Given the description of an element on the screen output the (x, y) to click on. 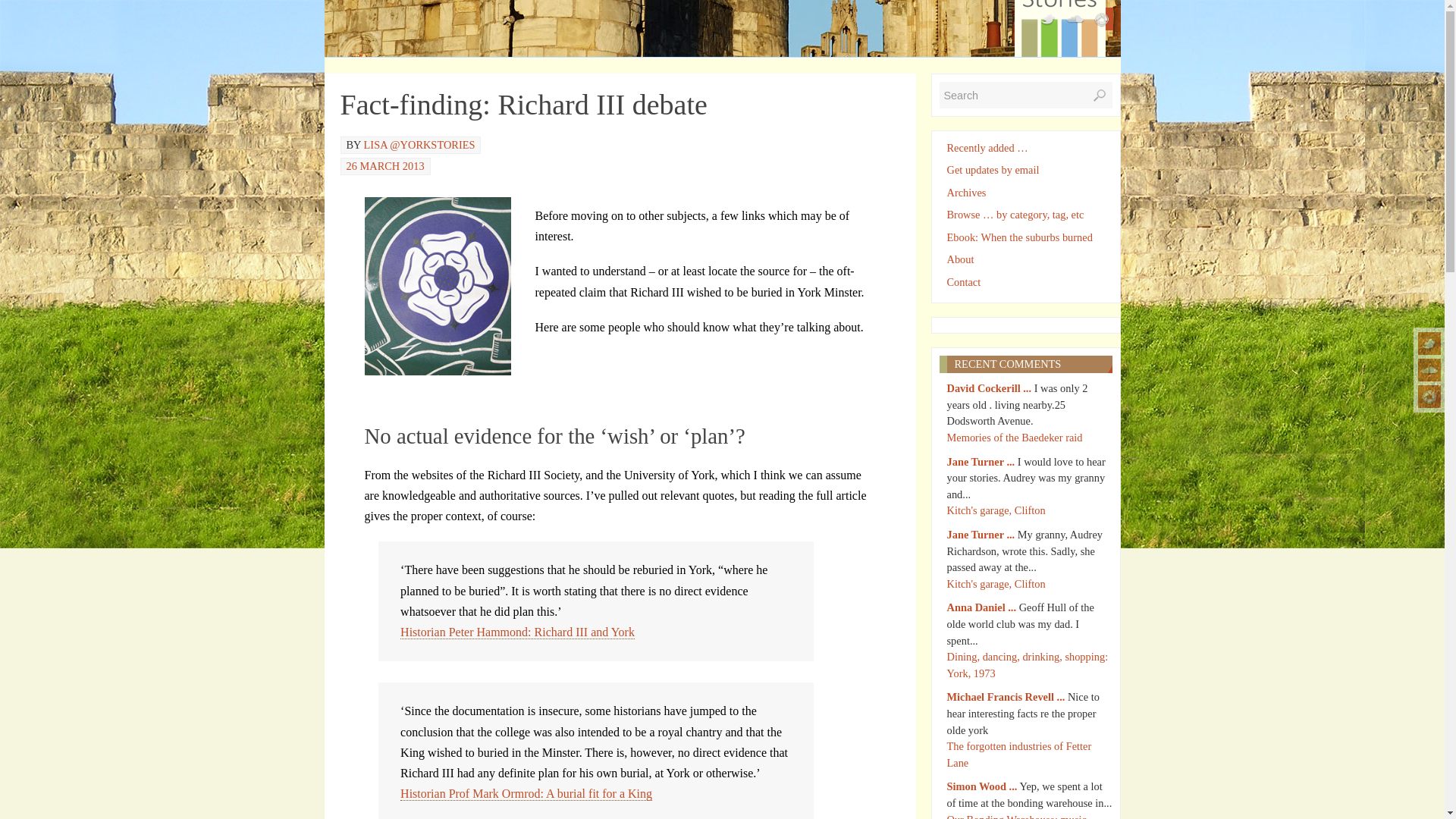
More and larger photos in my Picasweb albums (1101, 18)
OK (1099, 95)
Search (1025, 94)
More and larger photos in my Picasweb albums (1429, 395)
26 MARCH 2013 (384, 165)
Historian Prof Mark Ormrod: A burial fit for a King (526, 793)
Historian Peter Hammond: Richard III and York (517, 632)
